Given the description of an element on the screen output the (x, y) to click on. 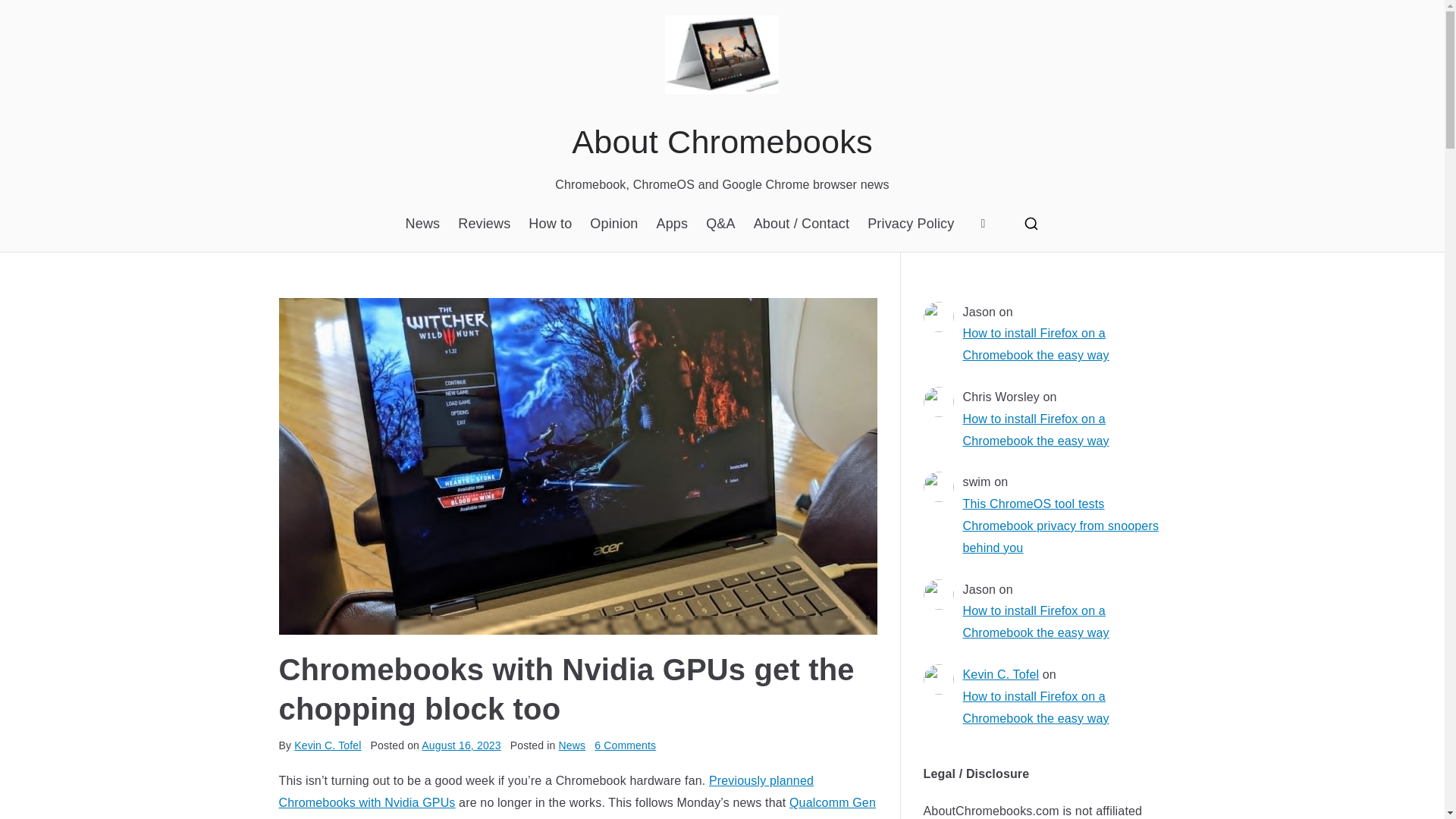
Chromebooks with Nvidia GPUs for Steam gaming on the way? (546, 791)
August 16, 2023 (461, 745)
Reviews (484, 223)
Qualcomm Gen 3 Snapdragon 7c Chromebooks were canceled (577, 807)
Search (26, 12)
Opinion (613, 223)
Kevin C. Tofel (327, 745)
Oh well, no Gen 3 Snapdragon 7c Chromebooks coming after all (577, 807)
